Given the description of an element on the screen output the (x, y) to click on. 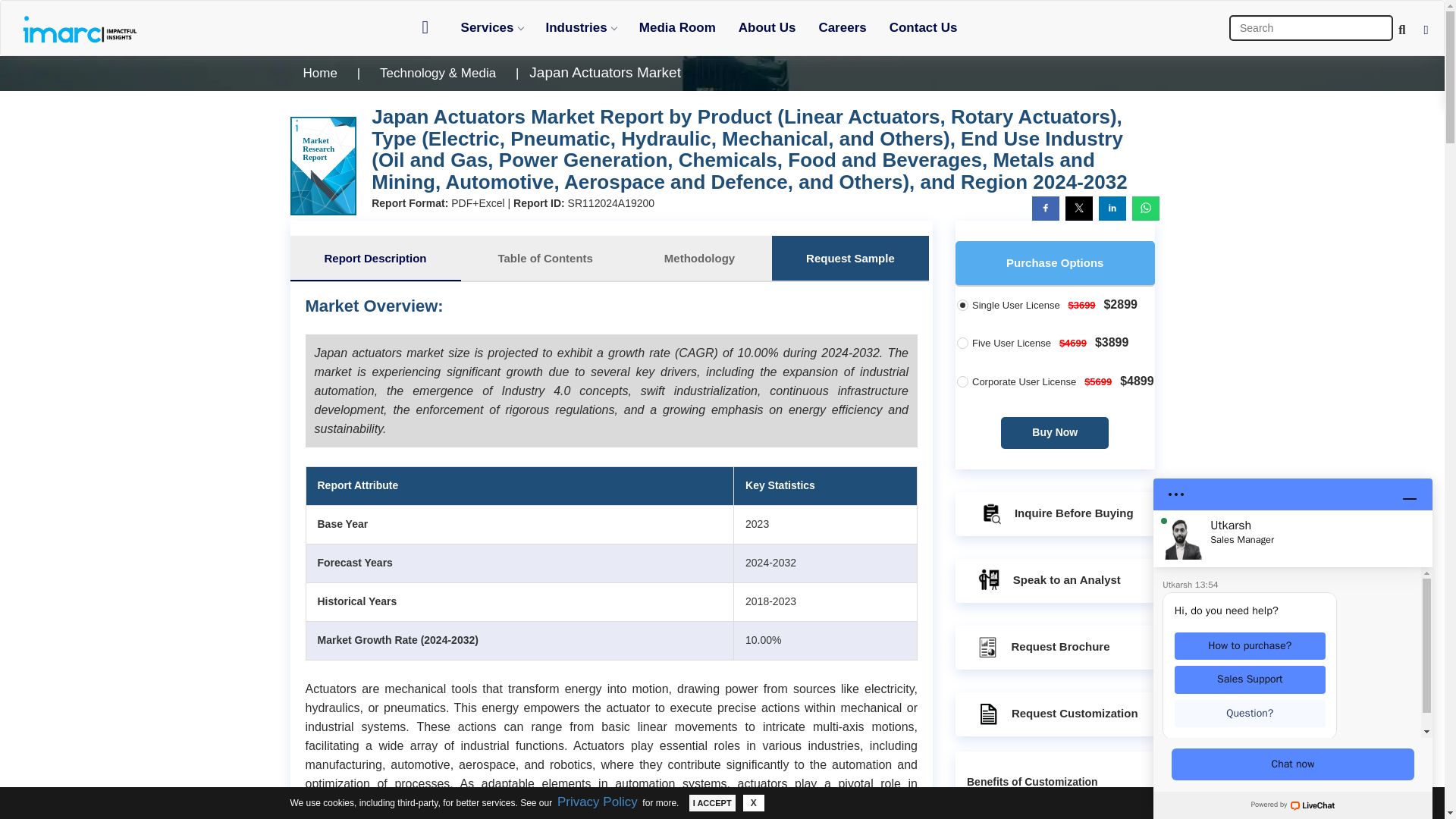
Industries (580, 27)
About Us (767, 27)
Careers (841, 27)
Services (491, 27)
Media Room (676, 27)
Contact Us (923, 27)
